Given the description of an element on the screen output the (x, y) to click on. 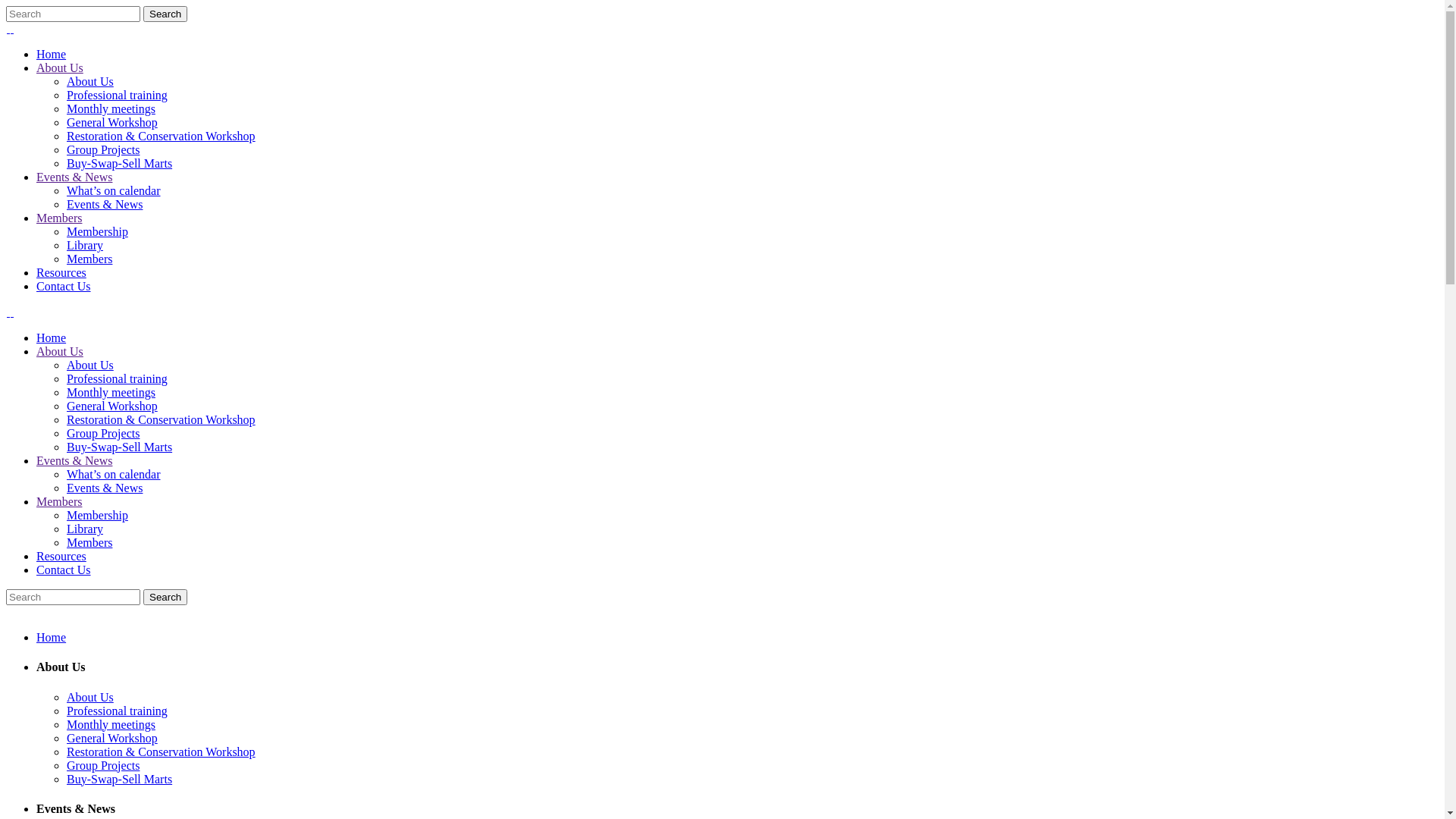
Events & News Element type: text (74, 460)
Home Element type: text (50, 636)
Members Element type: text (89, 542)
Resources Element type: text (61, 555)
Home Element type: text (50, 53)
Home Element type: text (50, 337)
Members Element type: text (58, 501)
Buy-Swap-Sell Marts Element type: text (119, 778)
Group Projects Element type: text (102, 765)
Resources Element type: text (61, 272)
Group Projects Element type: text (102, 432)
About Us Element type: text (59, 351)
Restoration & Conservation Workshop Element type: text (160, 751)
Monthly meetings Element type: text (110, 391)
Library Element type: text (84, 528)
Restoration & Conservation Workshop Element type: text (160, 135)
Monthly meetings Element type: text (110, 108)
Members Element type: text (89, 258)
General Workshop Element type: text (111, 405)
Group Projects Element type: text (102, 149)
Members Element type: text (58, 217)
About Us Element type: text (59, 67)
General Workshop Element type: text (111, 737)
Monthly meetings Element type: text (110, 724)
Membership Element type: text (97, 514)
Buy-Swap-Sell Marts Element type: text (119, 162)
Buy-Swap-Sell Marts Element type: text (119, 446)
Events & News Element type: text (104, 203)
Search Element type: text (165, 13)
Contact Us Element type: text (63, 285)
General Workshop Element type: text (111, 122)
Professional training Element type: text (116, 710)
Library Element type: text (84, 244)
Professional training Element type: text (116, 378)
Membership Element type: text (97, 231)
Events & News Element type: text (74, 176)
About Us Element type: text (89, 81)
About Us Element type: text (89, 364)
Search Element type: text (165, 597)
Events & News Element type: text (104, 487)
Professional training Element type: text (116, 94)
Restoration & Conservation Workshop Element type: text (160, 419)
Contact Us Element type: text (63, 569)
About Us Element type: text (89, 696)
